Given the description of an element on the screen output the (x, y) to click on. 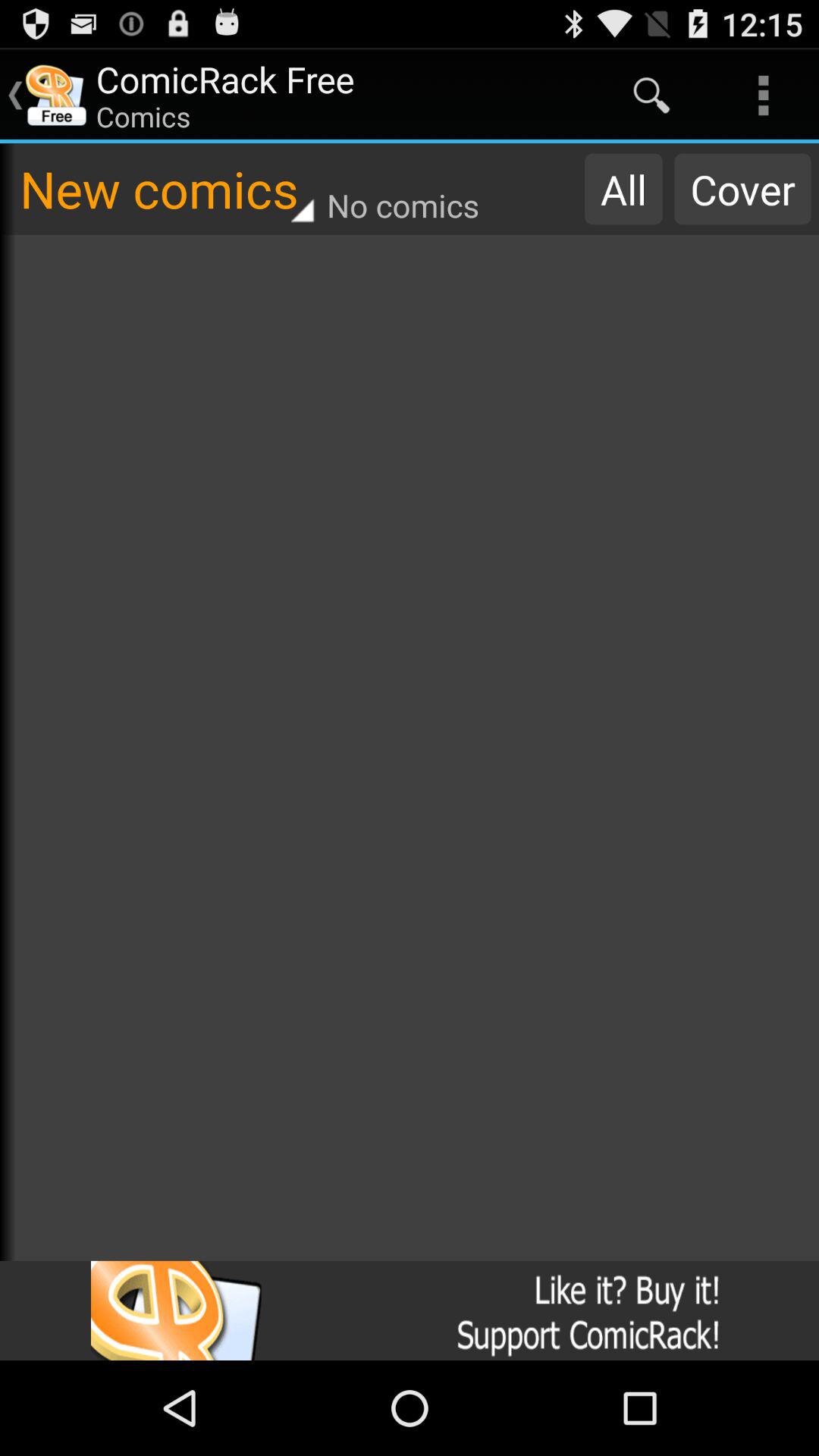
press the cover app (742, 188)
